Given the description of an element on the screen output the (x, y) to click on. 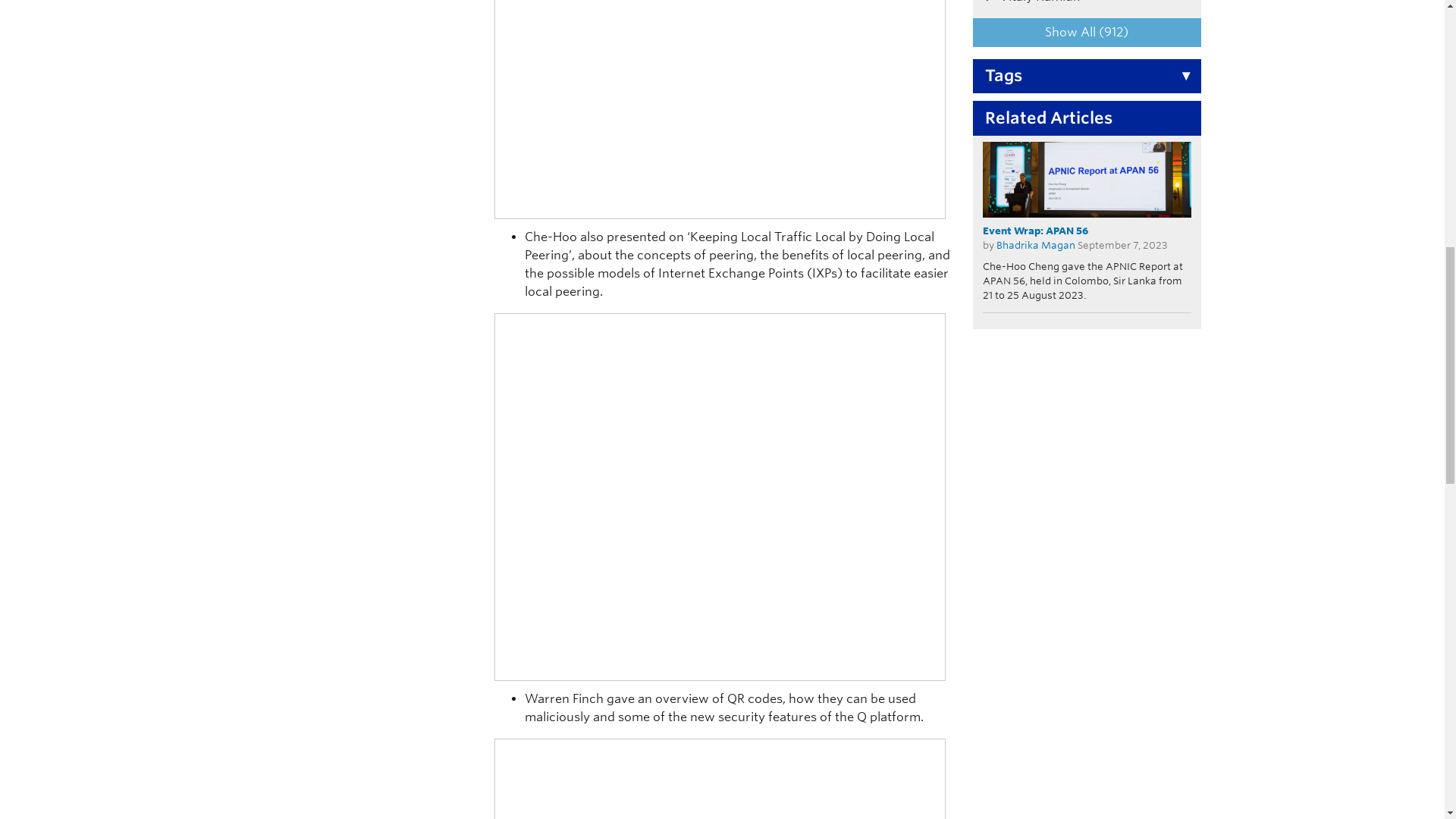
Event Wrap: APAN 56 (1086, 179)
